Given the description of an element on the screen output the (x, y) to click on. 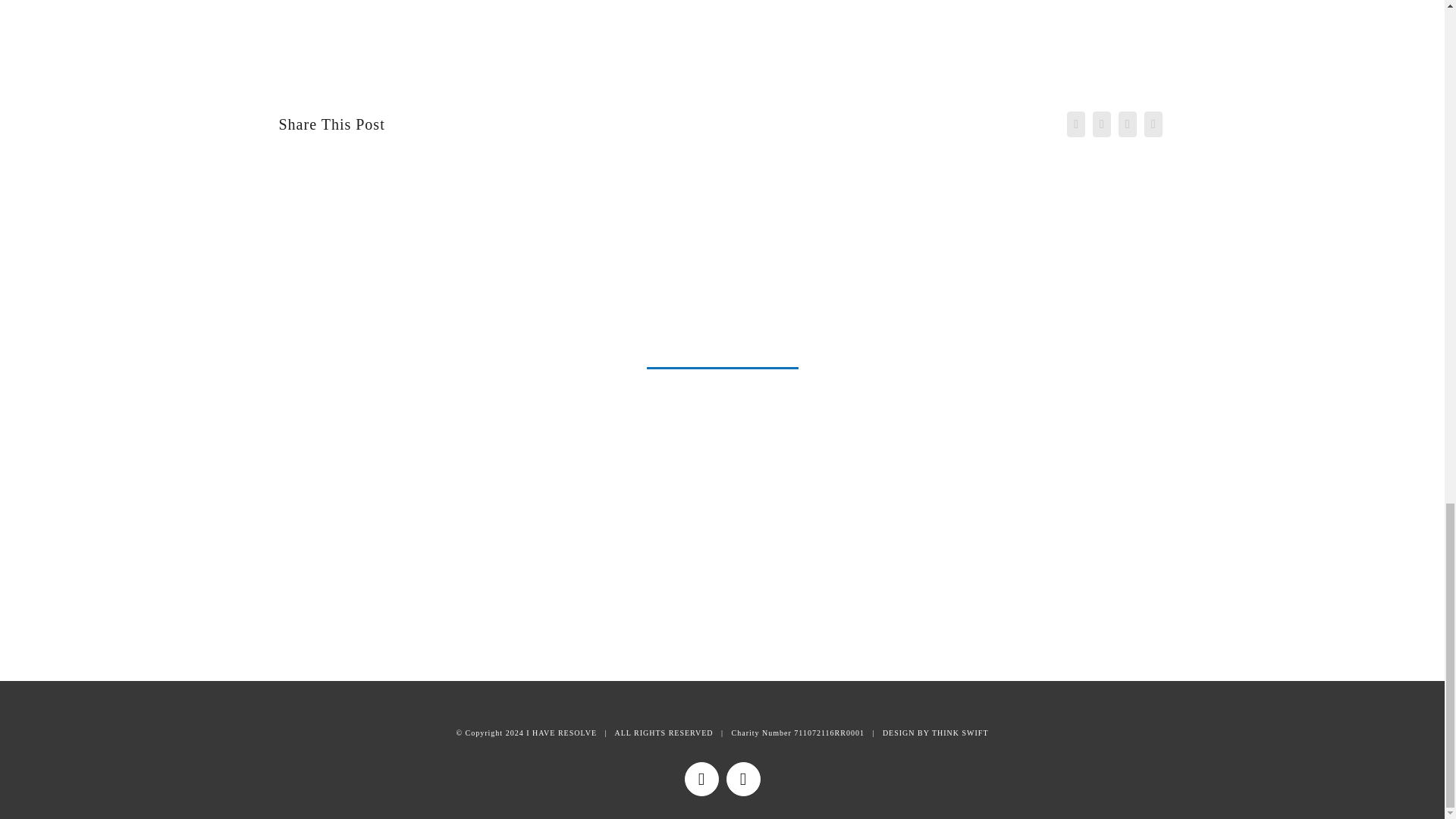
Facebook (700, 779)
X (743, 779)
VOLUNTEER (635, 513)
DONATE (808, 511)
